Given the description of an element on the screen output the (x, y) to click on. 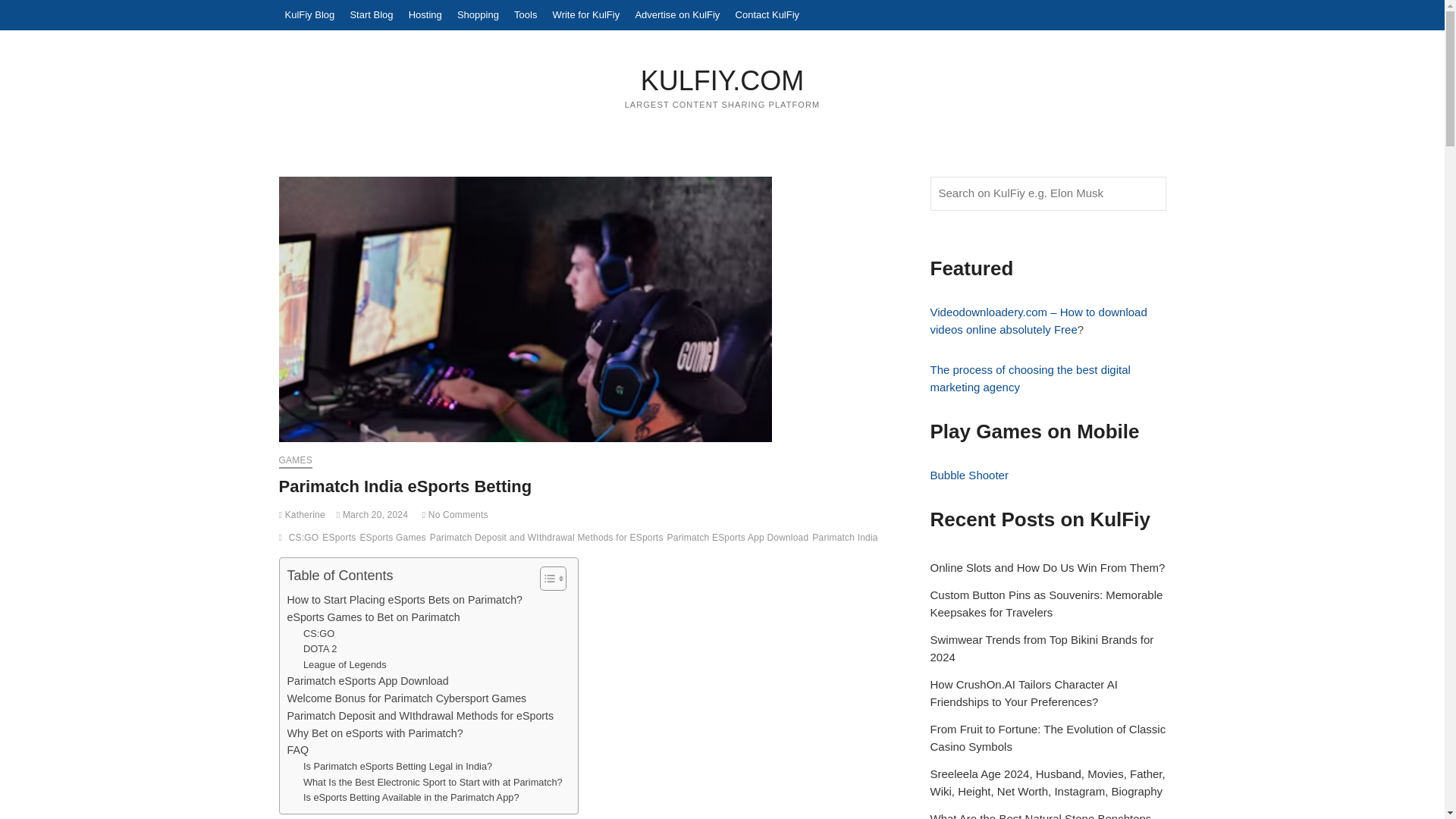
Tools (525, 15)
Parimatch eSports App Download (367, 681)
League of Legends (344, 665)
CS:GO (318, 634)
Hosting (425, 15)
KULFIY.COM (722, 80)
How to Start Placing eSports Bets on Parimatch? (403, 600)
Start Blog (370, 15)
Shopping (478, 15)
FAQ (297, 750)
